Given the description of an element on the screen output the (x, y) to click on. 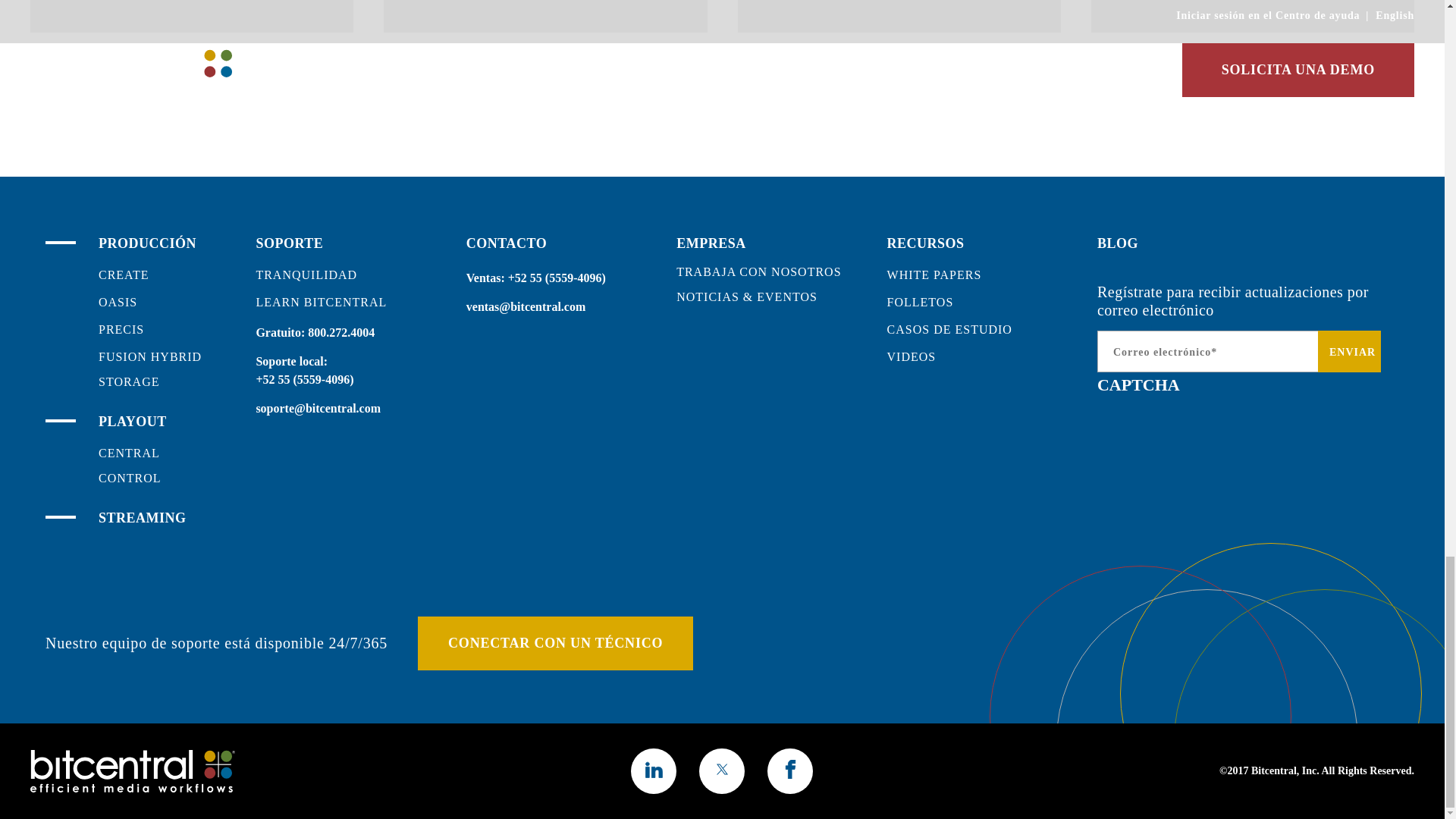
FUSION HYBRID STORAGE (150, 369)
Enviar (1348, 351)
OASIS (117, 301)
PRECIS (121, 328)
CREATE (123, 274)
